Given the description of an element on the screen output the (x, y) to click on. 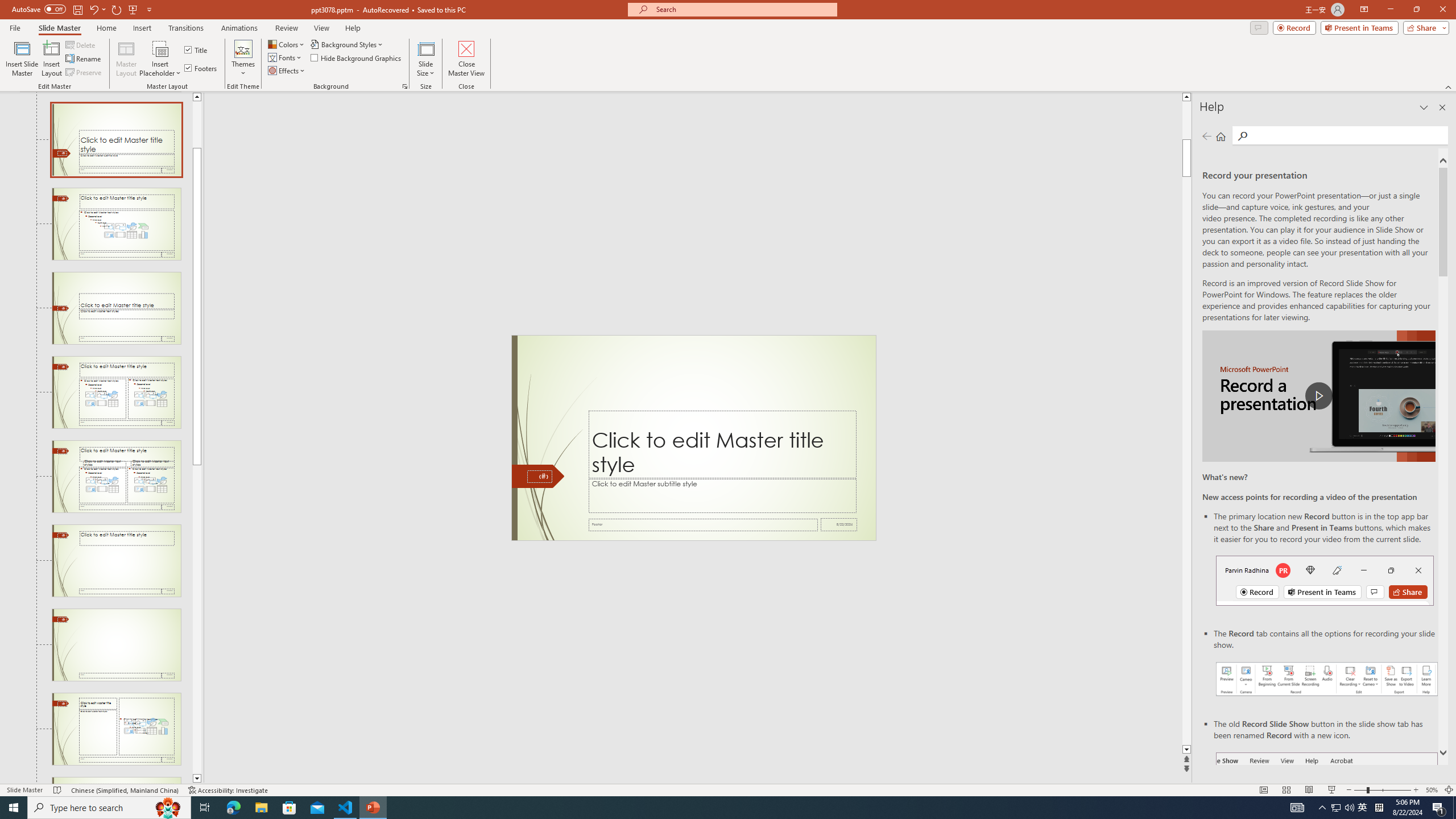
Themes (243, 58)
Slide Blank Layout: used by no slides (116, 644)
Slide Content with Caption Layout: used by no slides (116, 728)
Zoom 50% (1431, 790)
Insert Layout (51, 58)
Footers (201, 67)
Effects (287, 69)
Preserve (84, 72)
